Given the description of an element on the screen output the (x, y) to click on. 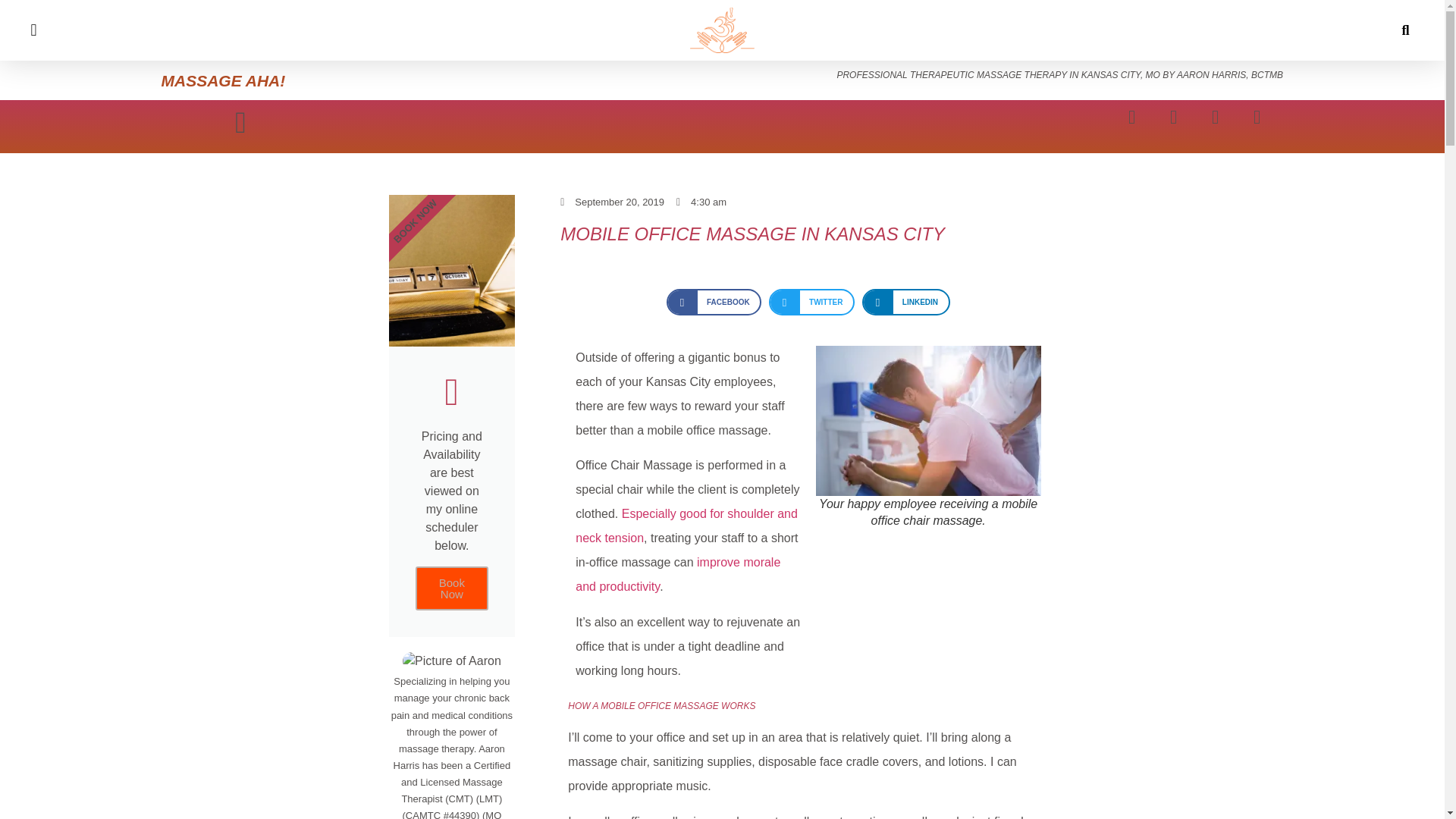
September 20, 2019 (611, 201)
MASSAGE AHA! (222, 80)
improve morale and productivity (677, 574)
Especially good for shoulder and neck tension (686, 525)
